Given the description of an element on the screen output the (x, y) to click on. 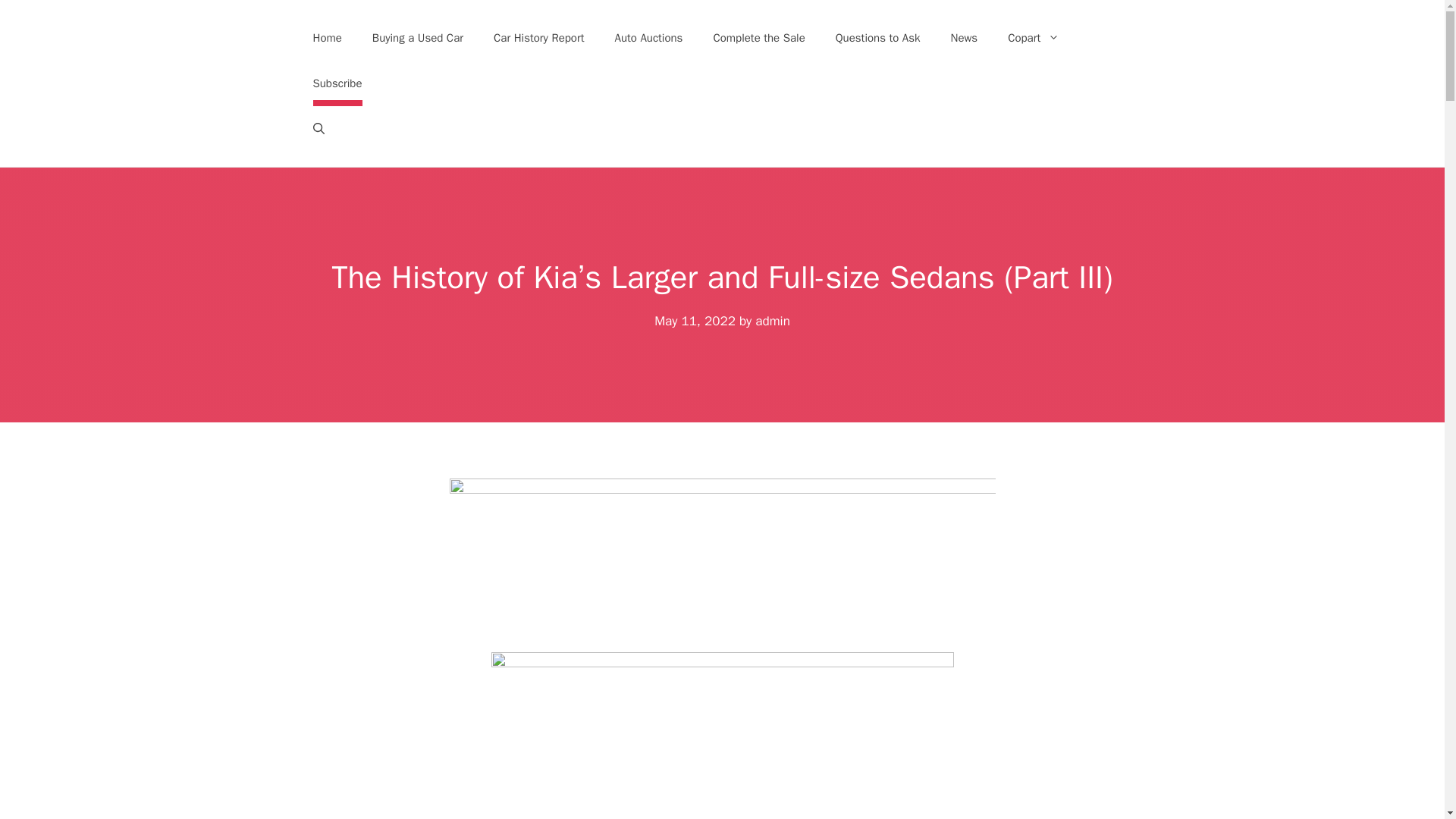
Copart (1033, 37)
News (964, 37)
Auto Auctions (648, 37)
Car History Report (539, 37)
admin (772, 320)
Home (326, 37)
Complete the Sale (758, 37)
Buying a Used Car (417, 37)
View all posts by admin (772, 320)
Subscribe (337, 83)
